Given the description of an element on the screen output the (x, y) to click on. 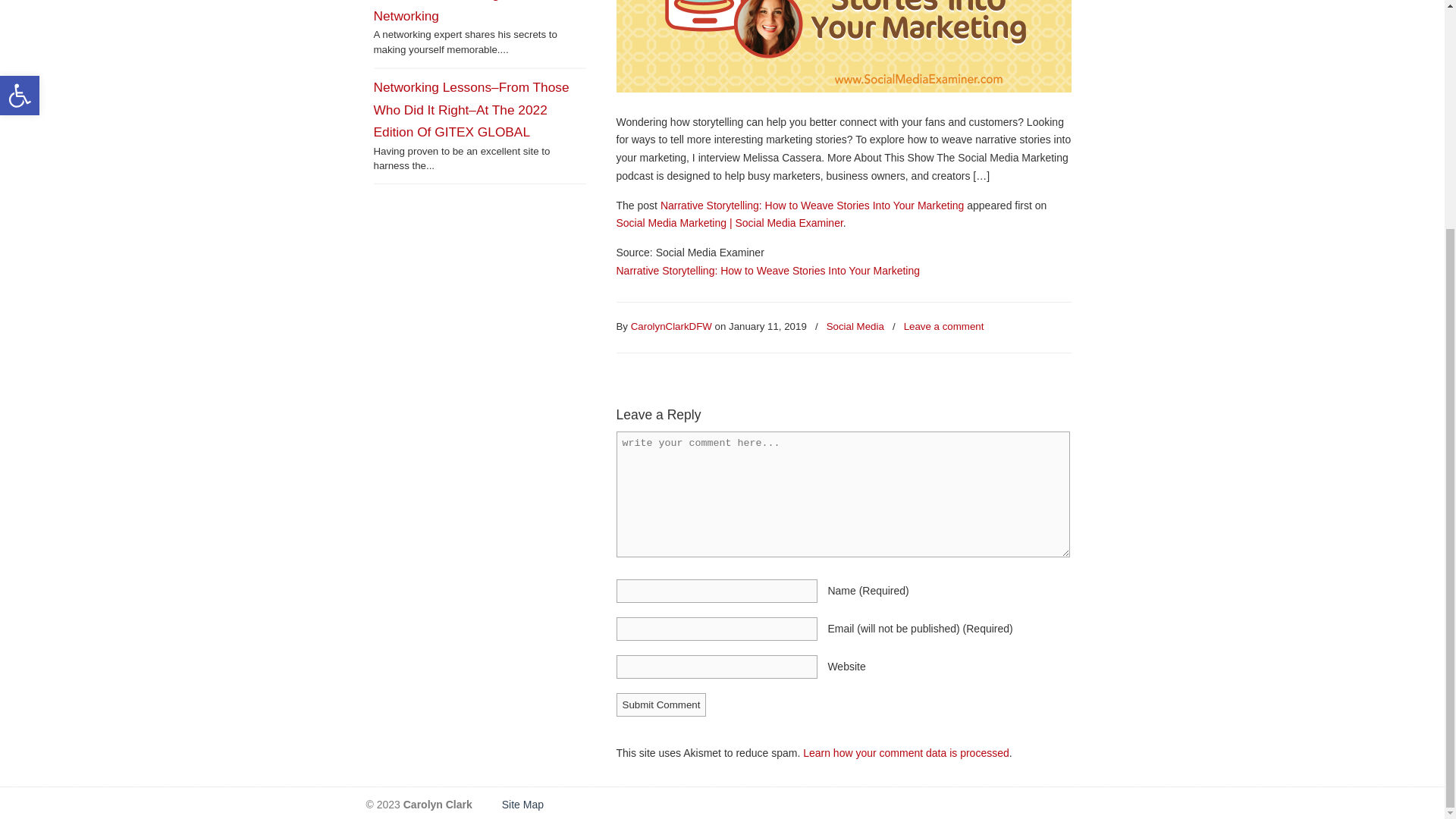
Social Media (855, 326)
Site Map (521, 804)
CarolynClarkDFW (670, 326)
Leave a comment (944, 326)
How to Not Be Boring While You're Networking (473, 11)
Learn how your comment data is processed (906, 752)
Posts by CarolynClarkDFW (670, 326)
Submit Comment (660, 704)
